Given the description of an element on the screen output the (x, y) to click on. 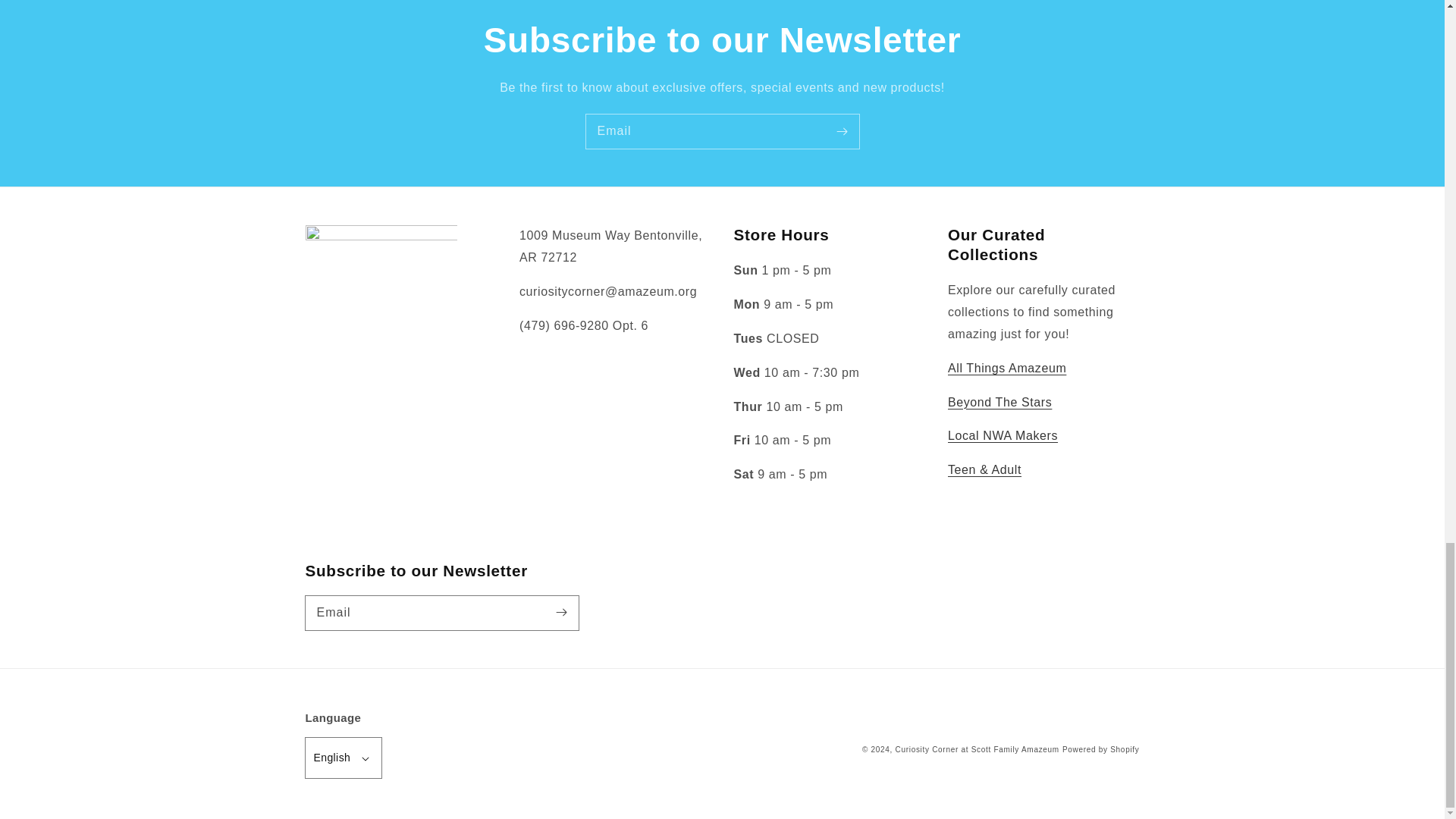
Beyond The Stars (999, 401)
Branded Merch (1006, 367)
Local Makers (1002, 435)
